Given the description of an element on the screen output the (x, y) to click on. 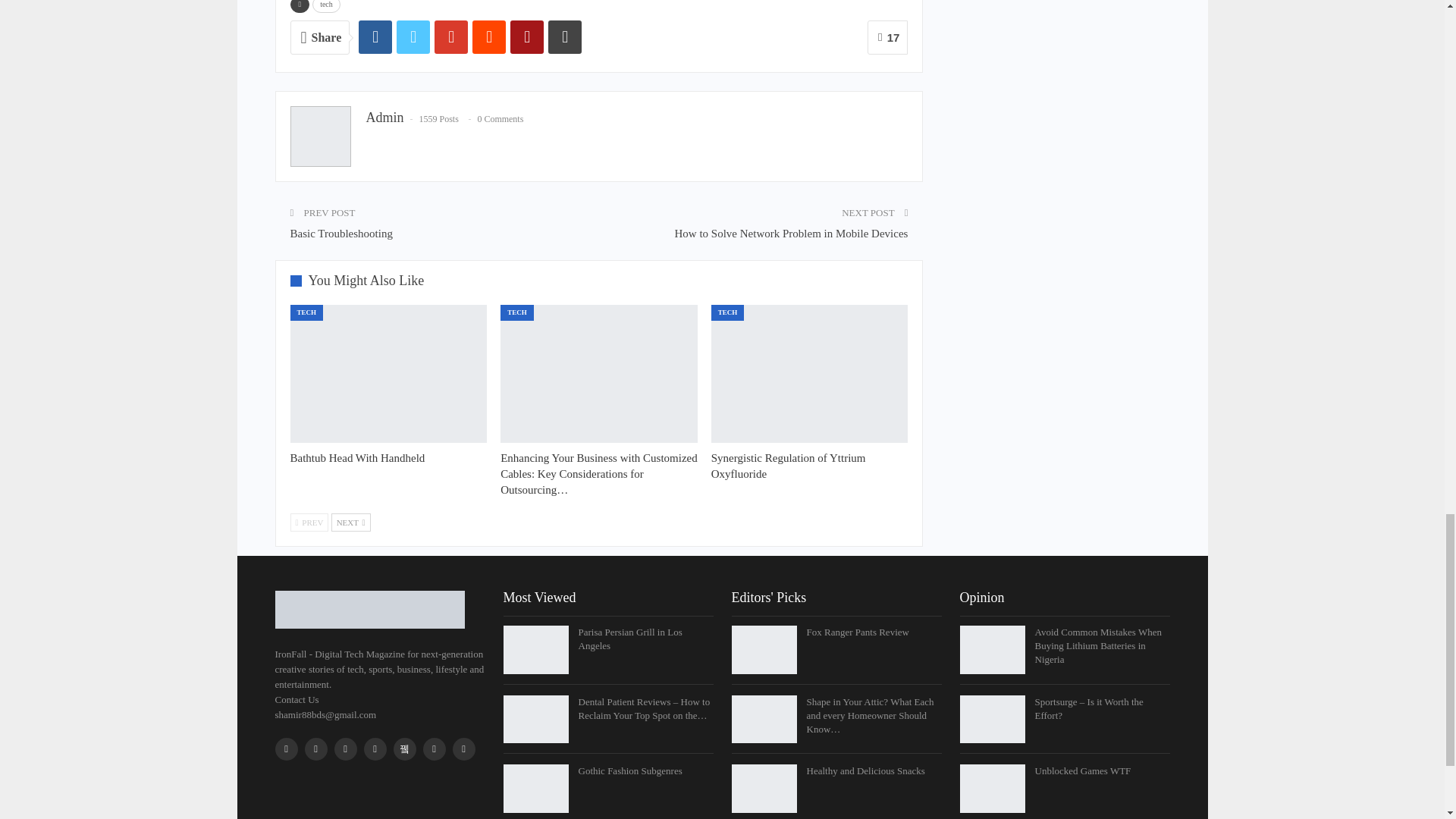
Bathtub Head With Handheld (357, 458)
Bathtub Head With Handheld (387, 373)
